Given the description of an element on the screen output the (x, y) to click on. 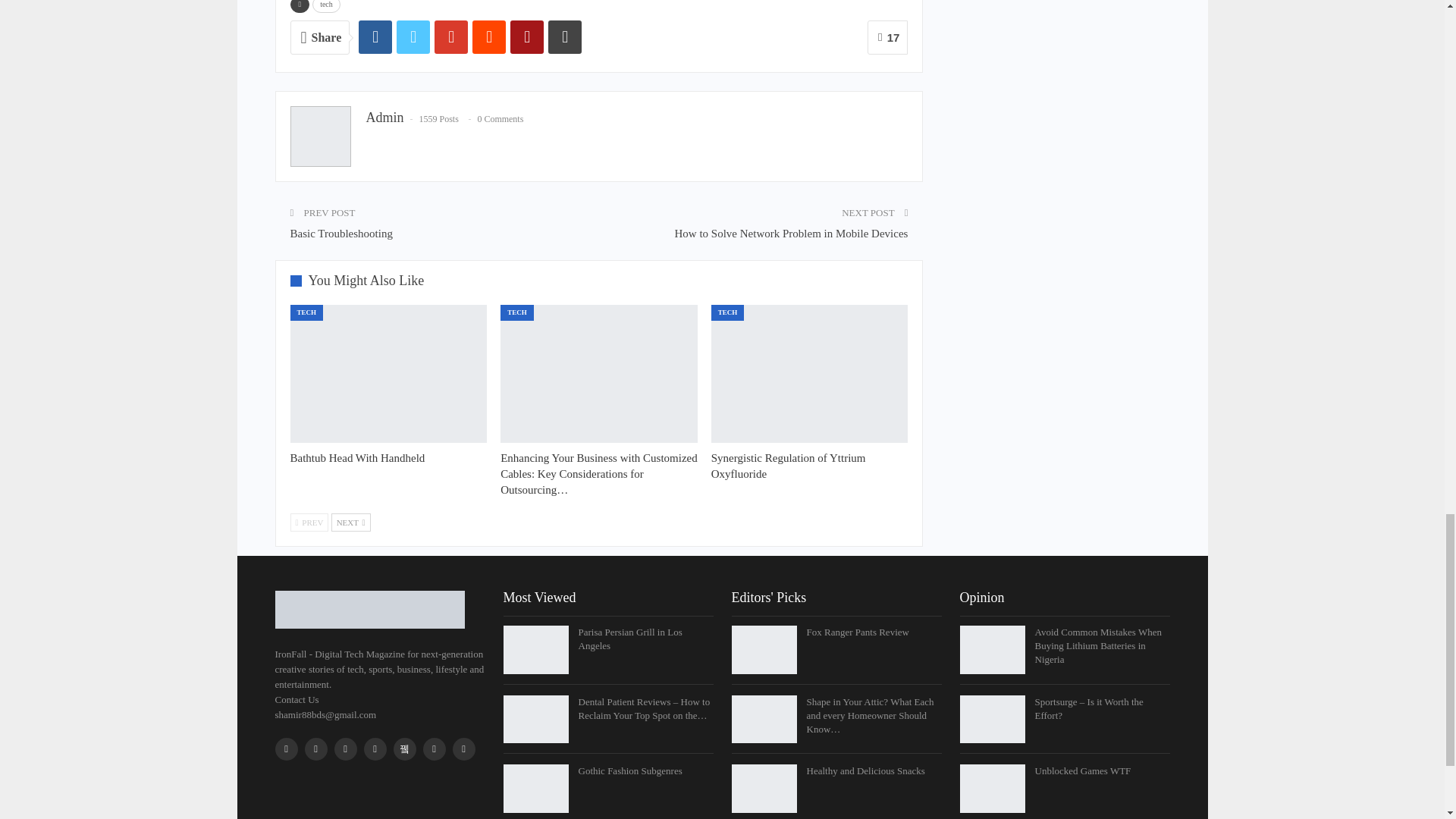
Bathtub Head With Handheld (357, 458)
Bathtub Head With Handheld (387, 373)
